Given the description of an element on the screen output the (x, y) to click on. 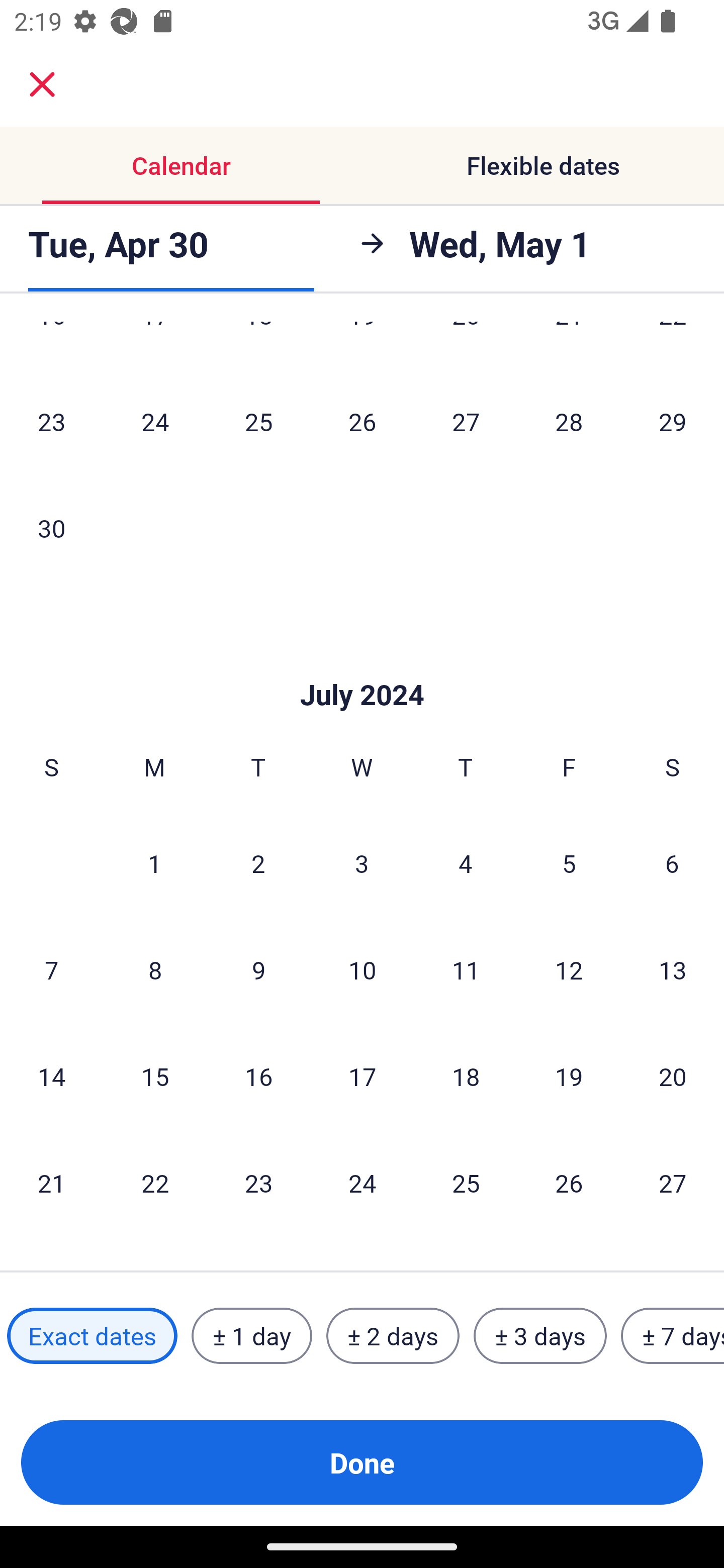
close. (42, 84)
Flexible dates (542, 164)
23 Sunday, June 23, 2024 (51, 421)
24 Monday, June 24, 2024 (155, 421)
25 Tuesday, June 25, 2024 (258, 421)
26 Wednesday, June 26, 2024 (362, 421)
27 Thursday, June 27, 2024 (465, 421)
28 Friday, June 28, 2024 (569, 421)
29 Saturday, June 29, 2024 (672, 421)
30 Sunday, June 30, 2024 (51, 528)
Skip to Done (362, 664)
1 Monday, July 1, 2024 (154, 863)
2 Tuesday, July 2, 2024 (257, 863)
3 Wednesday, July 3, 2024 (361, 863)
4 Thursday, July 4, 2024 (465, 863)
5 Friday, July 5, 2024 (568, 863)
6 Saturday, July 6, 2024 (672, 863)
7 Sunday, July 7, 2024 (51, 969)
8 Monday, July 8, 2024 (155, 969)
9 Tuesday, July 9, 2024 (258, 969)
10 Wednesday, July 10, 2024 (362, 969)
11 Thursday, July 11, 2024 (465, 969)
12 Friday, July 12, 2024 (569, 969)
13 Saturday, July 13, 2024 (672, 969)
14 Sunday, July 14, 2024 (51, 1076)
15 Monday, July 15, 2024 (155, 1076)
16 Tuesday, July 16, 2024 (258, 1076)
17 Wednesday, July 17, 2024 (362, 1076)
18 Thursday, July 18, 2024 (465, 1076)
19 Friday, July 19, 2024 (569, 1076)
20 Saturday, July 20, 2024 (672, 1076)
21 Sunday, July 21, 2024 (51, 1182)
22 Monday, July 22, 2024 (155, 1182)
23 Tuesday, July 23, 2024 (258, 1182)
24 Wednesday, July 24, 2024 (362, 1182)
25 Thursday, July 25, 2024 (465, 1182)
26 Friday, July 26, 2024 (569, 1182)
27 Saturday, July 27, 2024 (672, 1182)
Exact dates (92, 1335)
± 1 day (251, 1335)
± 2 days (392, 1335)
± 3 days (539, 1335)
± 7 days (672, 1335)
Done (361, 1462)
